Given the description of an element on the screen output the (x, y) to click on. 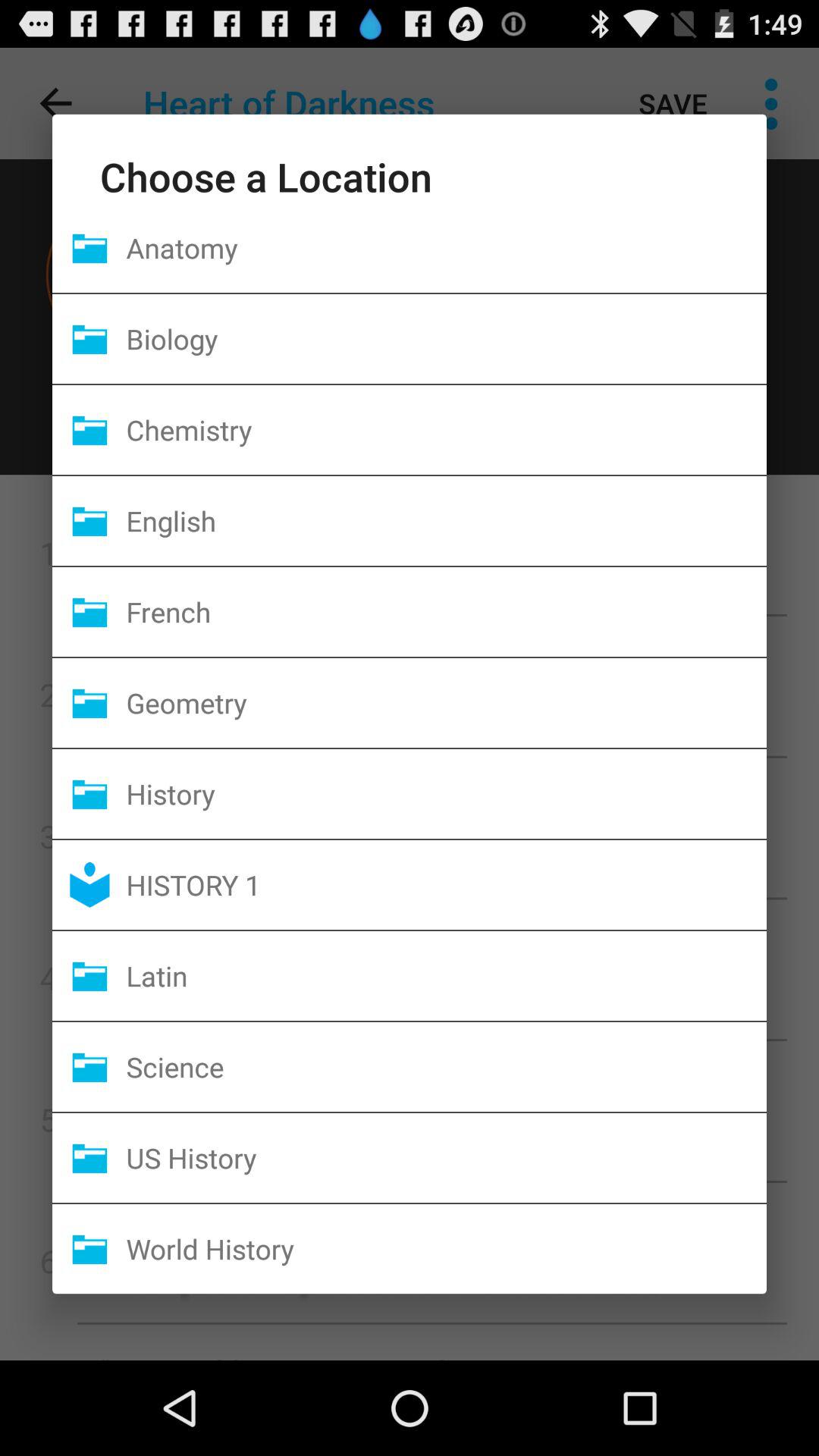
scroll to the chemistry item (446, 429)
